Given the description of an element on the screen output the (x, y) to click on. 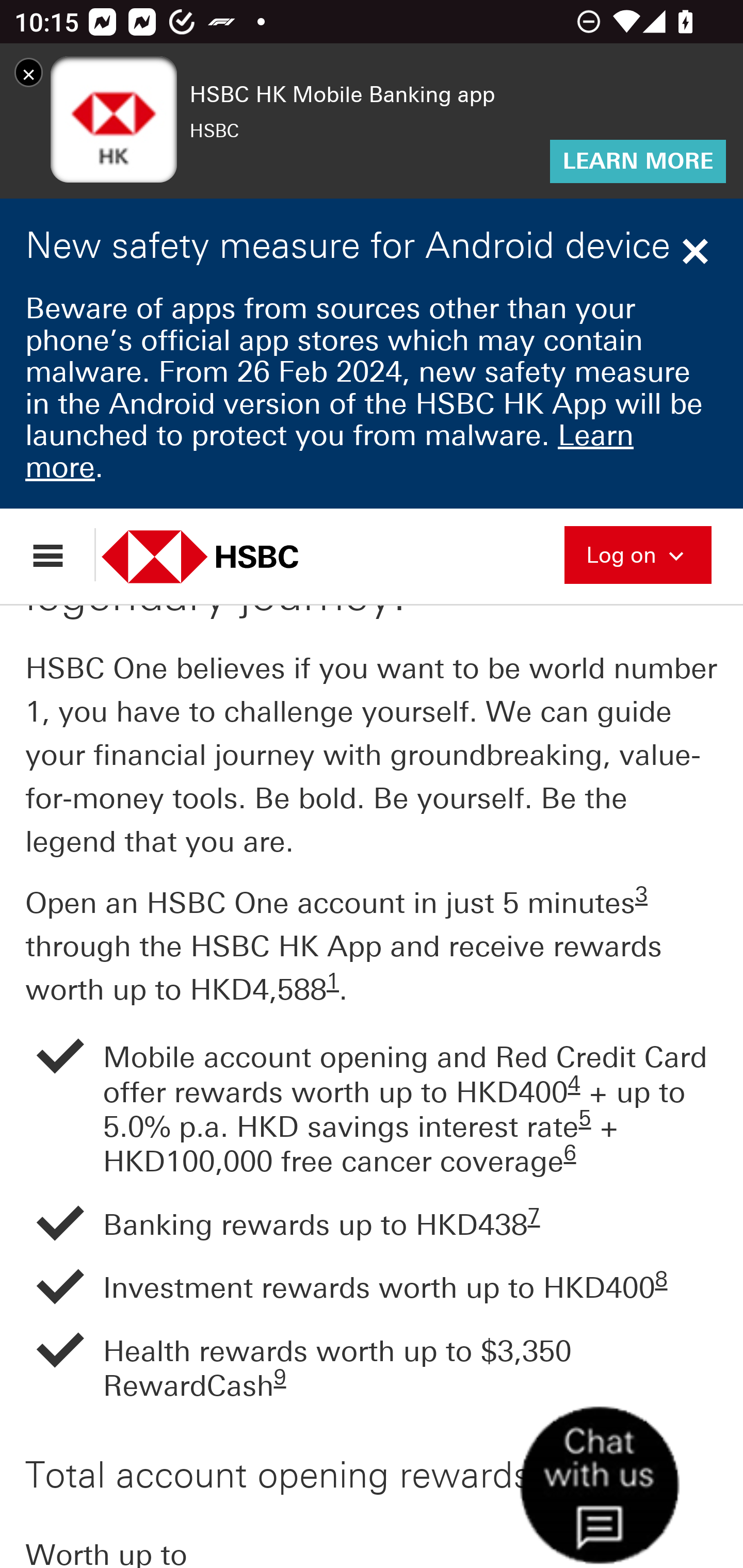
X (28, 74)
LEARN MORE (638, 163)
Close (697, 253)
Learn more (329, 452)
Log on Collapsed (638, 554)
Open menu (57, 555)
HSBC Hong Kong Bank (221, 557)
